Given the description of an element on the screen output the (x, y) to click on. 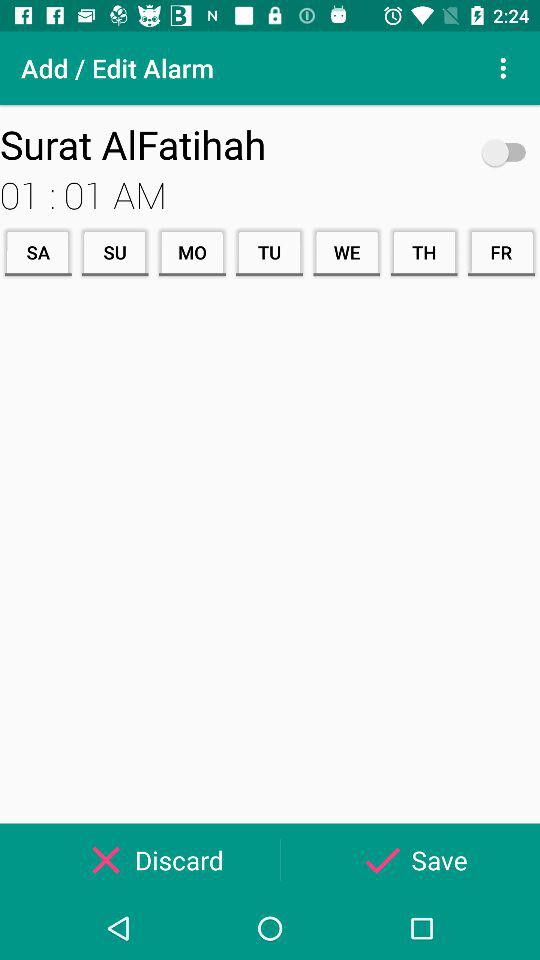
swipe until tu (269, 251)
